Given the description of an element on the screen output the (x, y) to click on. 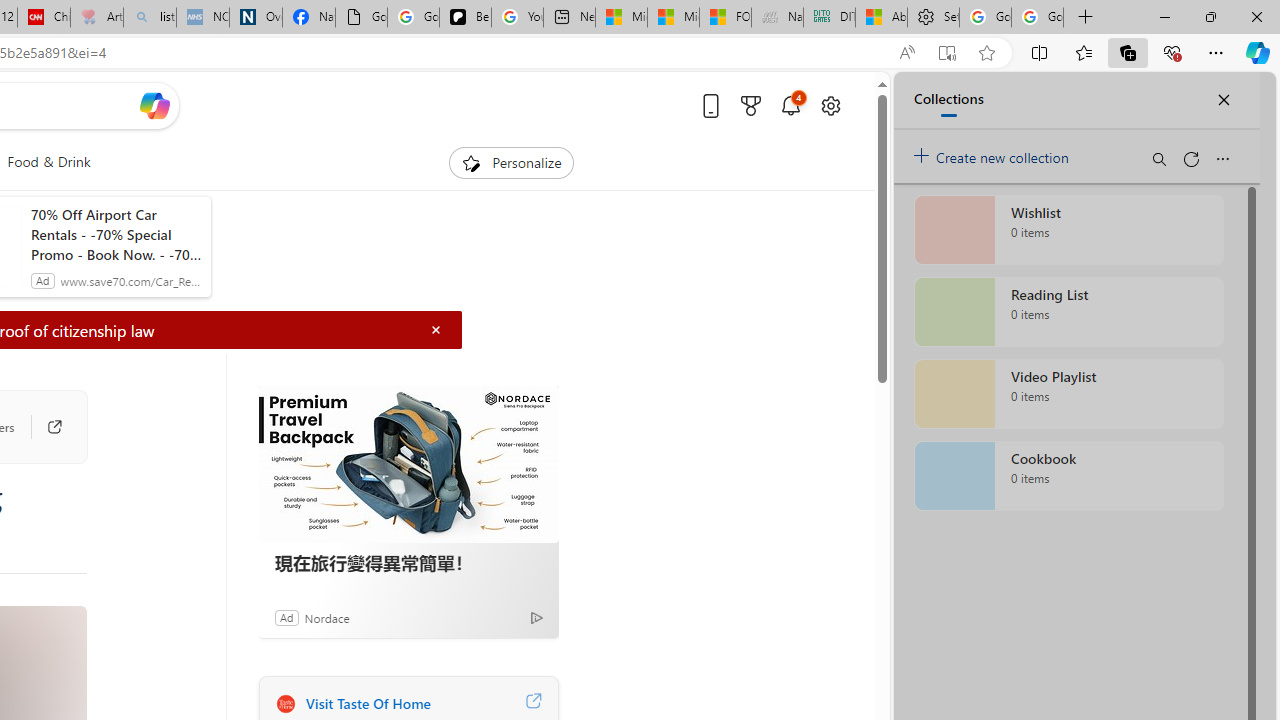
To get missing image descriptions, open the context menu. (471, 162)
Microsoft rewards (749, 105)
Enter Immersive Reader (F9) (946, 53)
Hide (435, 329)
DITOGAMES AG Imprint (829, 17)
